Given the description of an element on the screen output the (x, y) to click on. 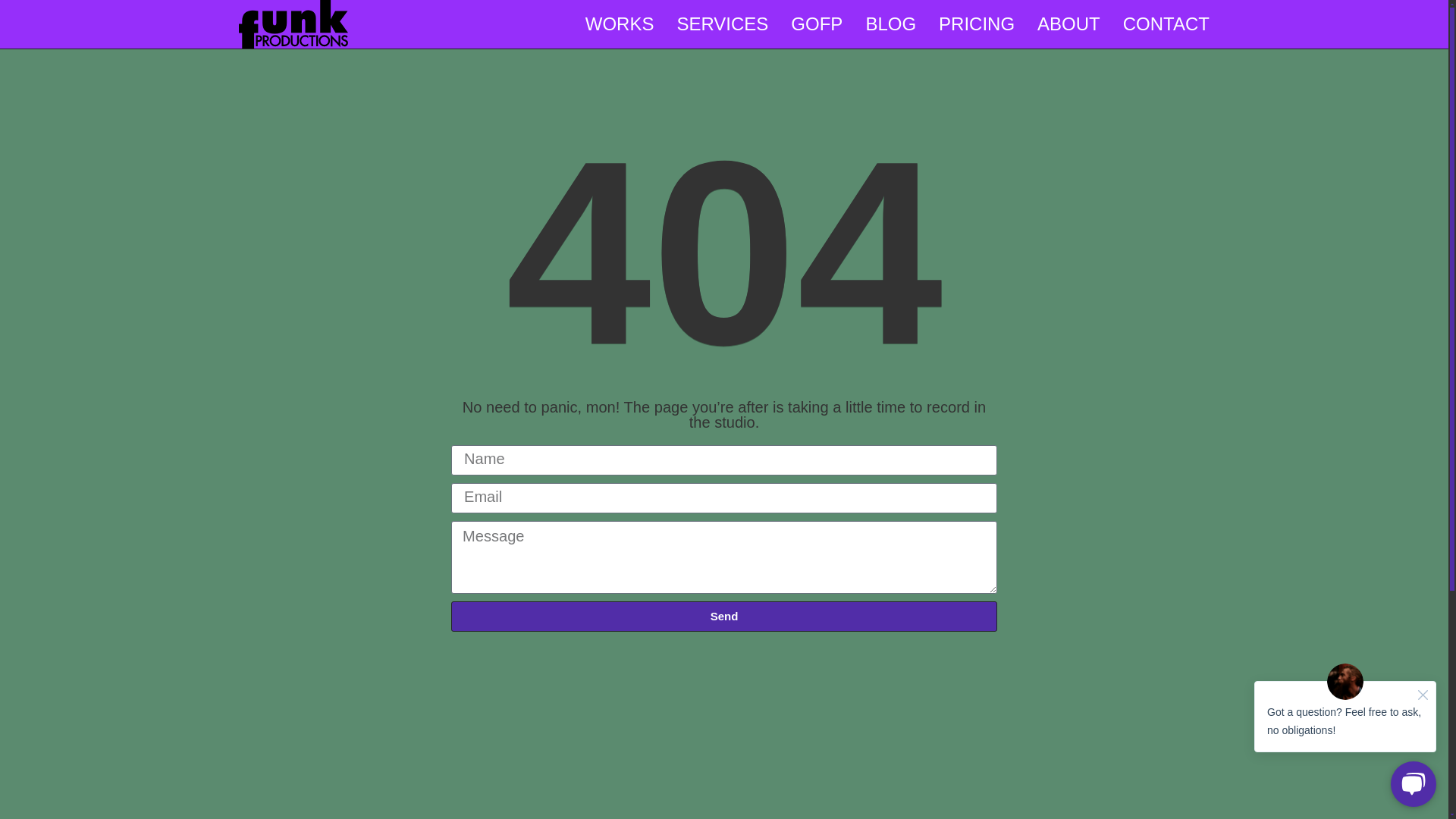
ABOUT (1068, 24)
BLOG (889, 24)
GOFP (816, 24)
CONTACT (1165, 24)
Send (724, 616)
SERVICES (722, 24)
PRICING (976, 24)
WORKS (619, 24)
goto:home (292, 43)
